Given the description of an element on the screen output the (x, y) to click on. 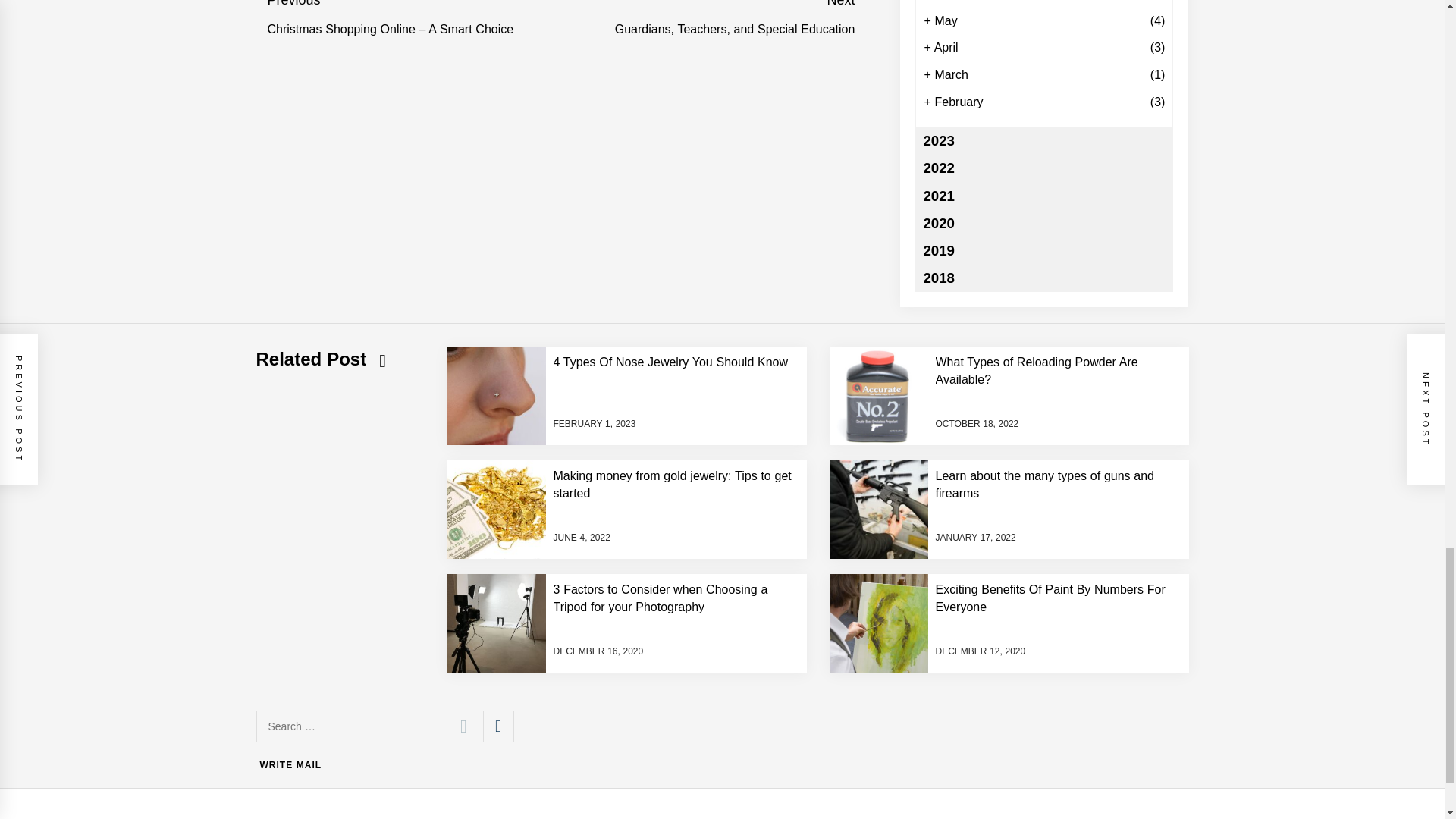
Search (462, 726)
Search (462, 726)
